Given the description of an element on the screen output the (x, y) to click on. 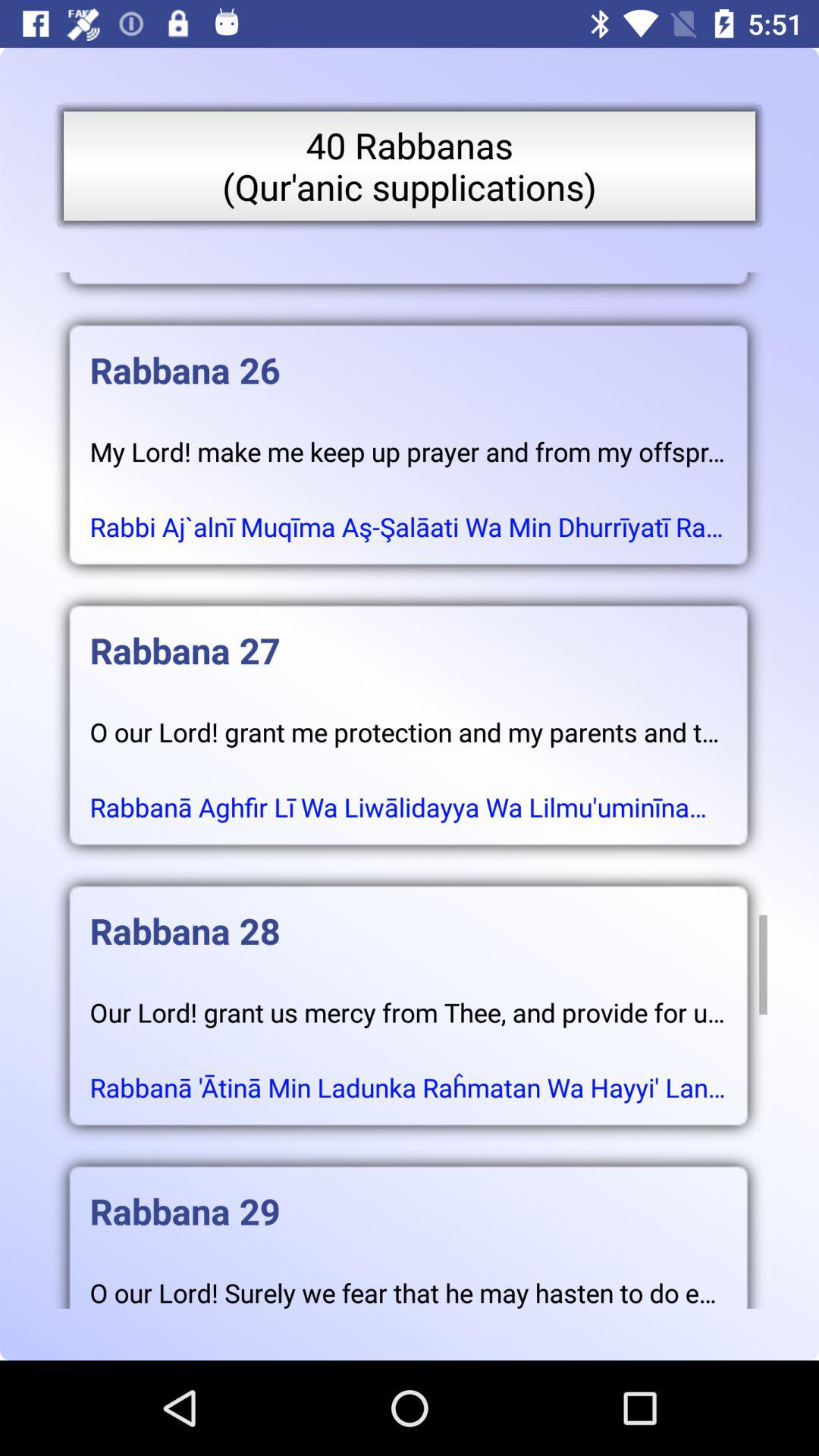
open icon above our lord grant (408, 915)
